Given the description of an element on the screen output the (x, y) to click on. 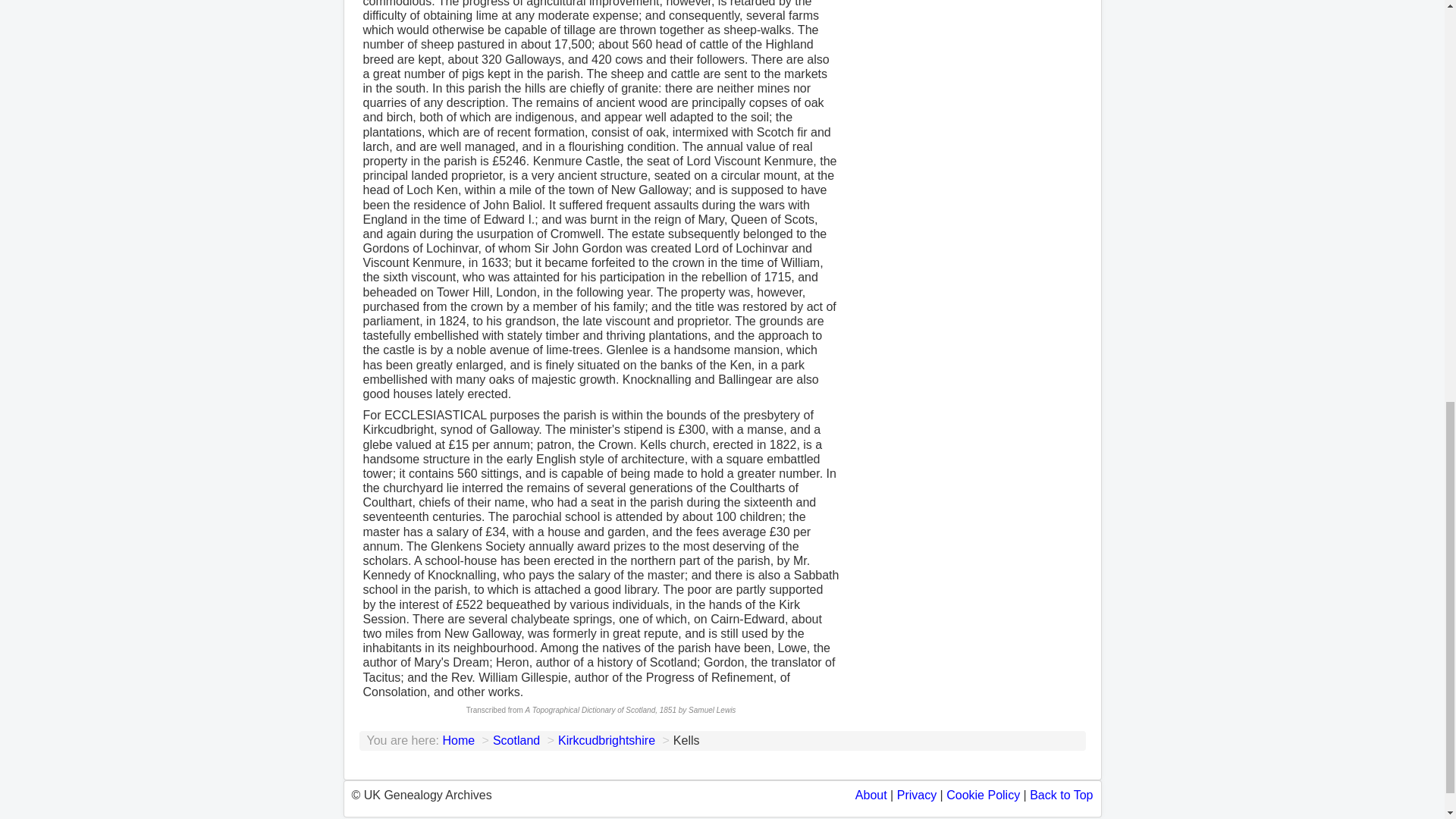
Scotland (516, 739)
Kirkcudbrightshire (606, 739)
Home (458, 739)
